Given the description of an element on the screen output the (x, y) to click on. 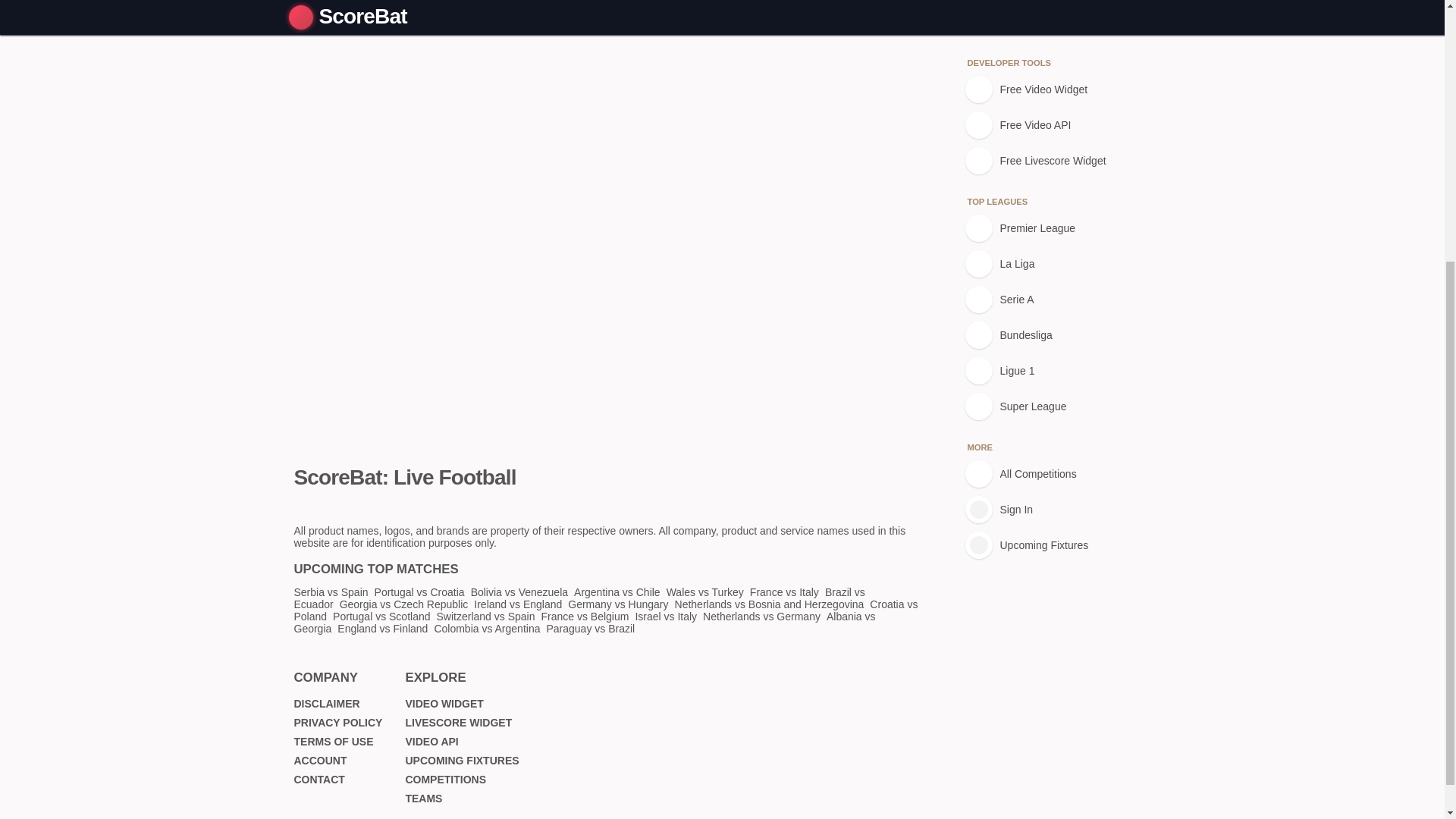
England vs Finland (382, 628)
Sign In (1047, 117)
Portugal Scotland (381, 616)
TERMS OF USE (334, 741)
Upcoming Fixtures (1047, 152)
Wales Turkey (705, 592)
PRIVACY POLICY (338, 722)
Albania vs Georgia (585, 622)
Switzerland vs Spain (485, 616)
Netherlands Germany (762, 616)
